Given the description of an element on the screen output the (x, y) to click on. 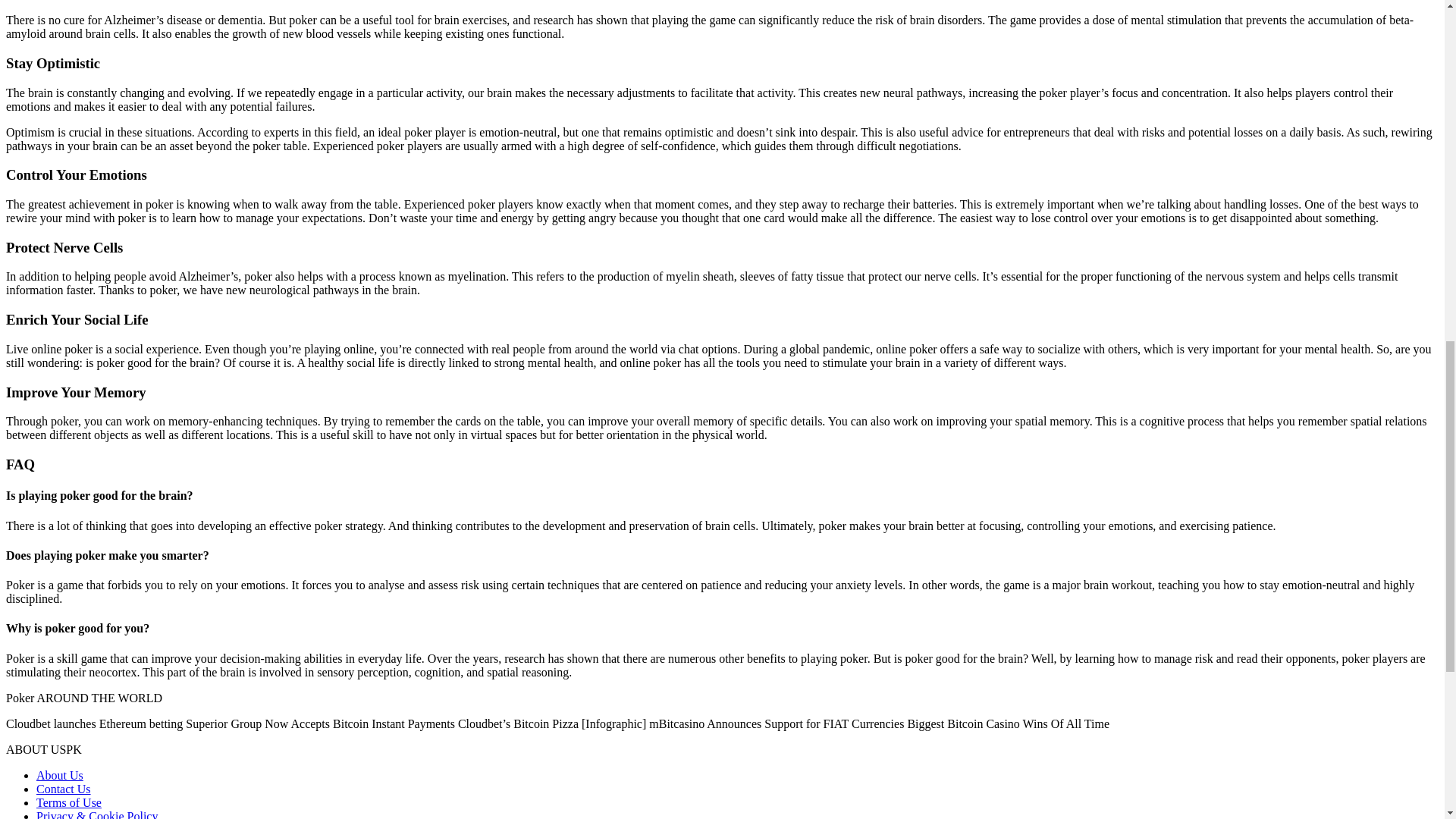
About Us (59, 775)
Contact Us (63, 788)
Terms of Use (68, 802)
